Given the description of an element on the screen output the (x, y) to click on. 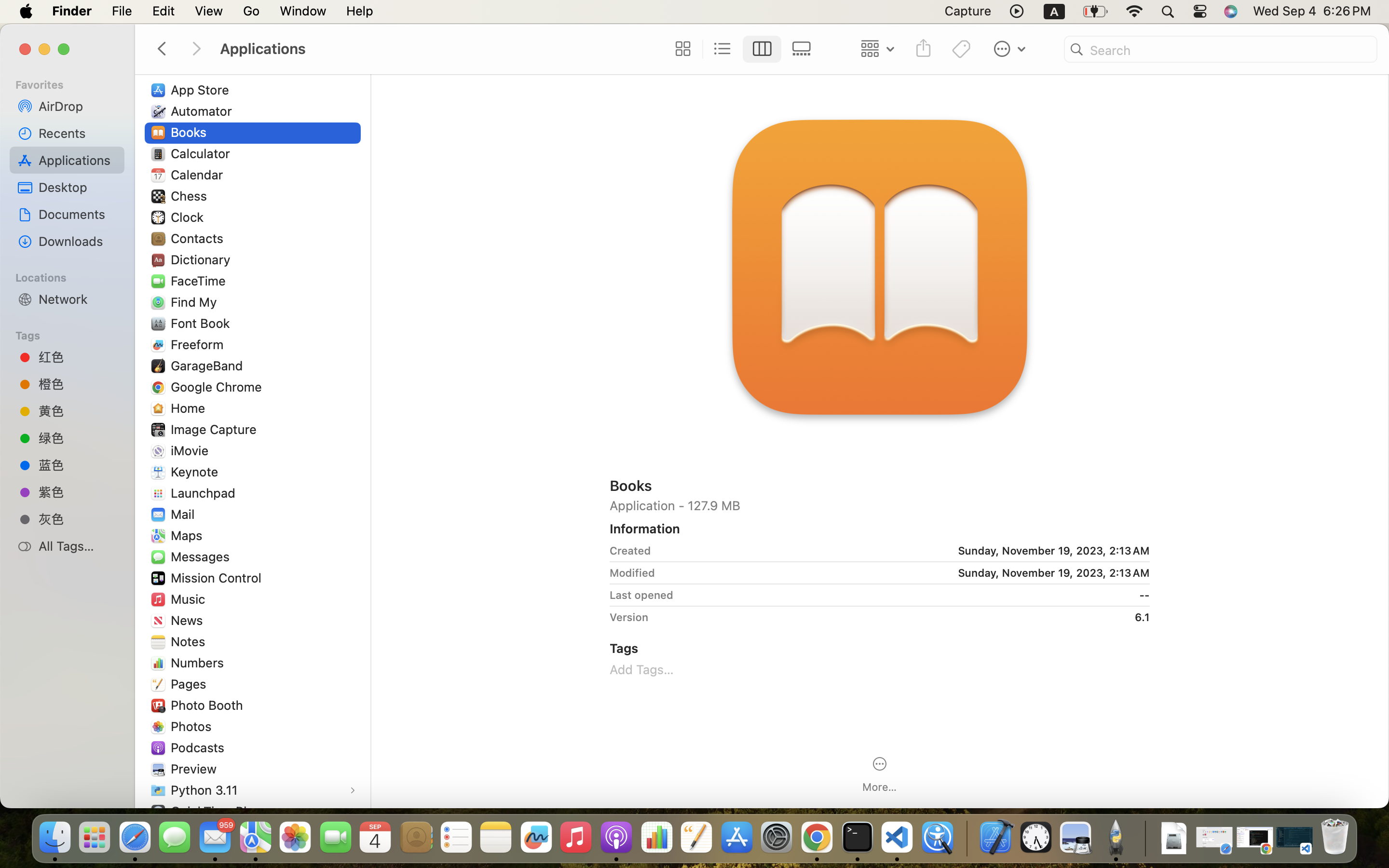
QuickTime Player Element type: AXTextField (222, 810)
App Store Element type: AXTextField (201, 89)
-- Element type: AXStaticText (914, 594)
Modified Element type: AXStaticText (631, 572)
